Given the description of an element on the screen output the (x, y) to click on. 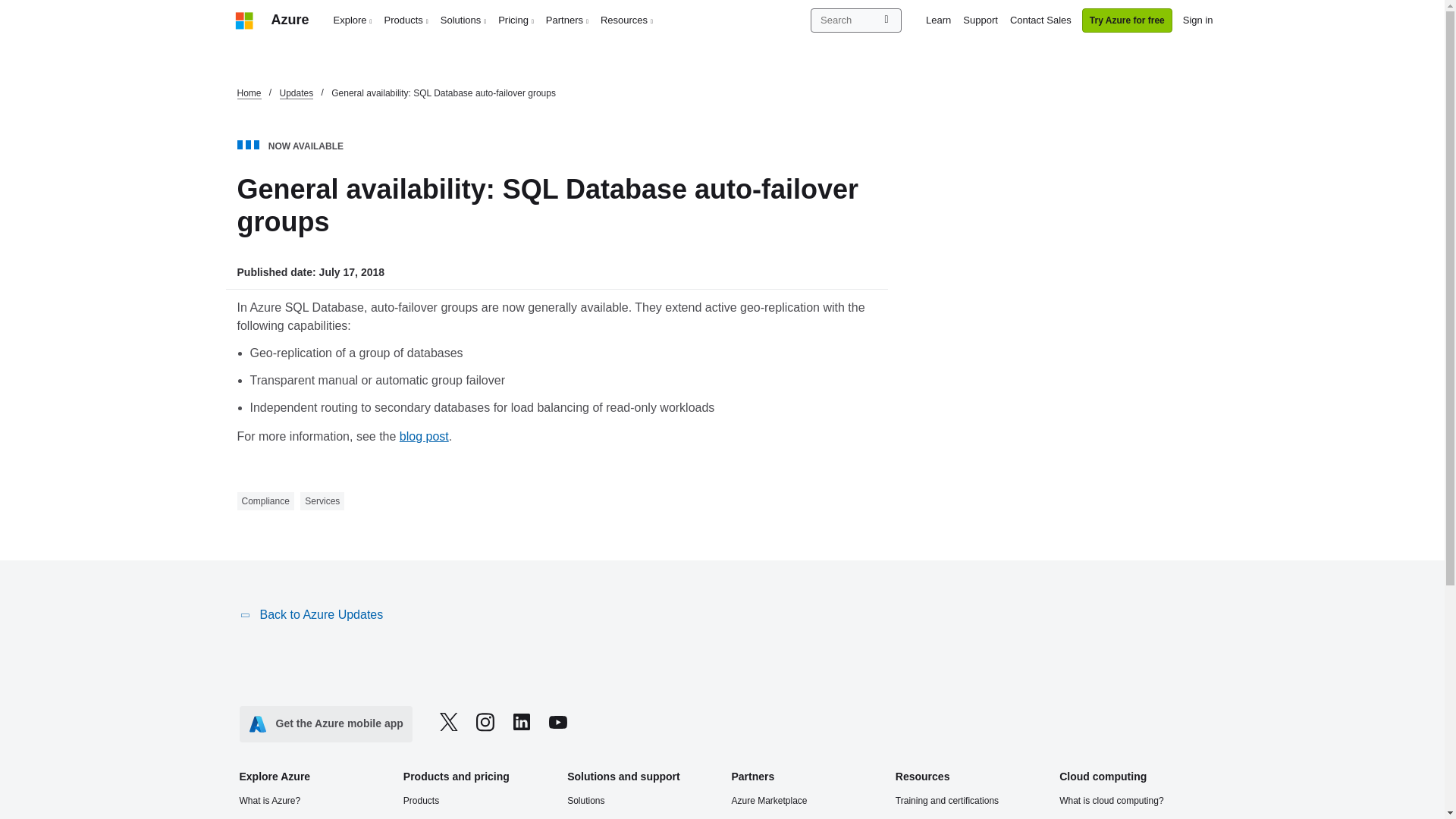
Azure (289, 19)
Products (405, 20)
Explore (352, 20)
Skip to main content (7, 7)
